Given the description of an element on the screen output the (x, y) to click on. 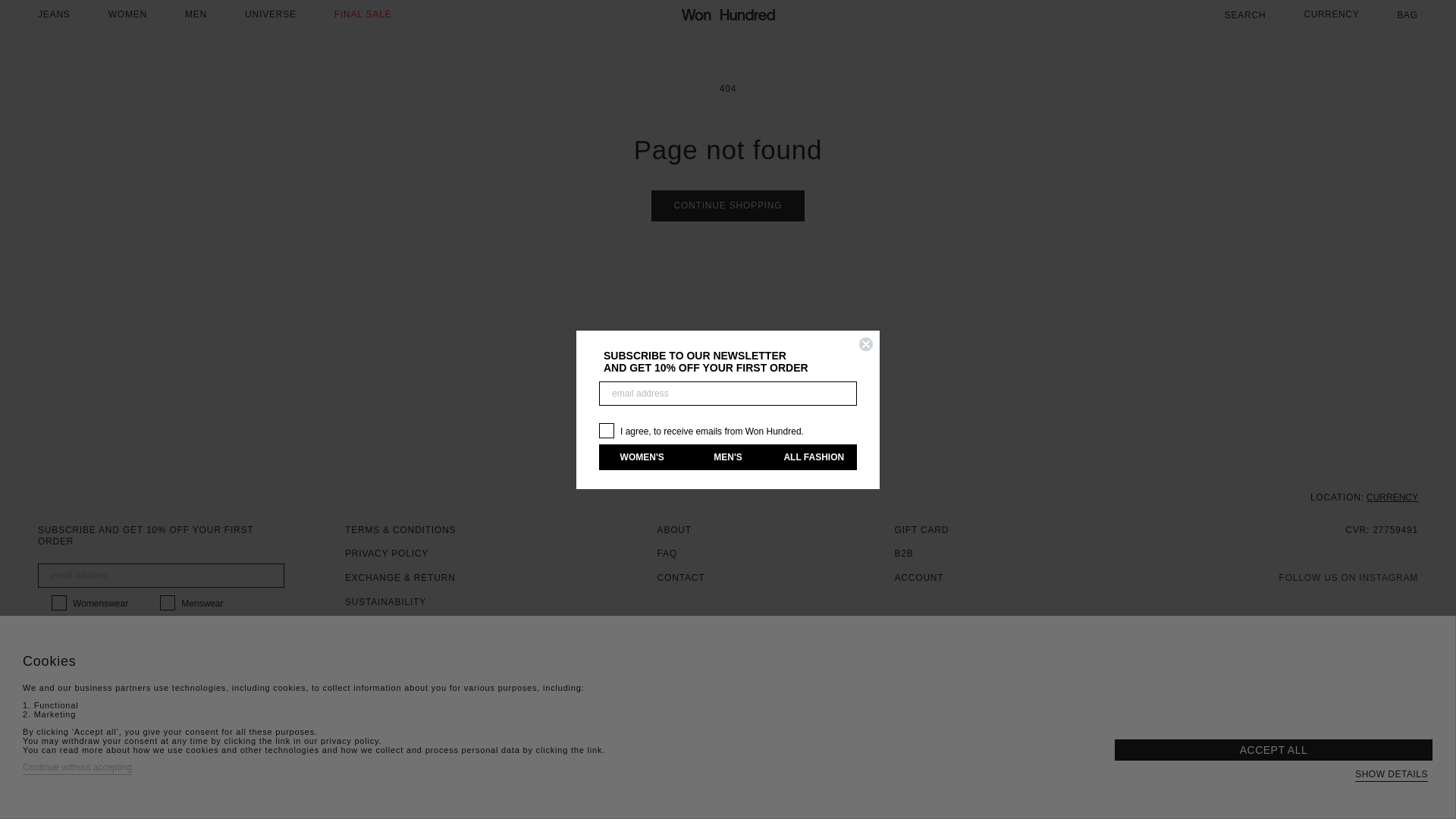
Continue without accepting (77, 767)
on (147, 624)
ACCEPT ALL (1273, 749)
on (603, 414)
Close dialog 12 (866, 344)
SHOW DETAILS (1391, 774)
